Given the description of an element on the screen output the (x, y) to click on. 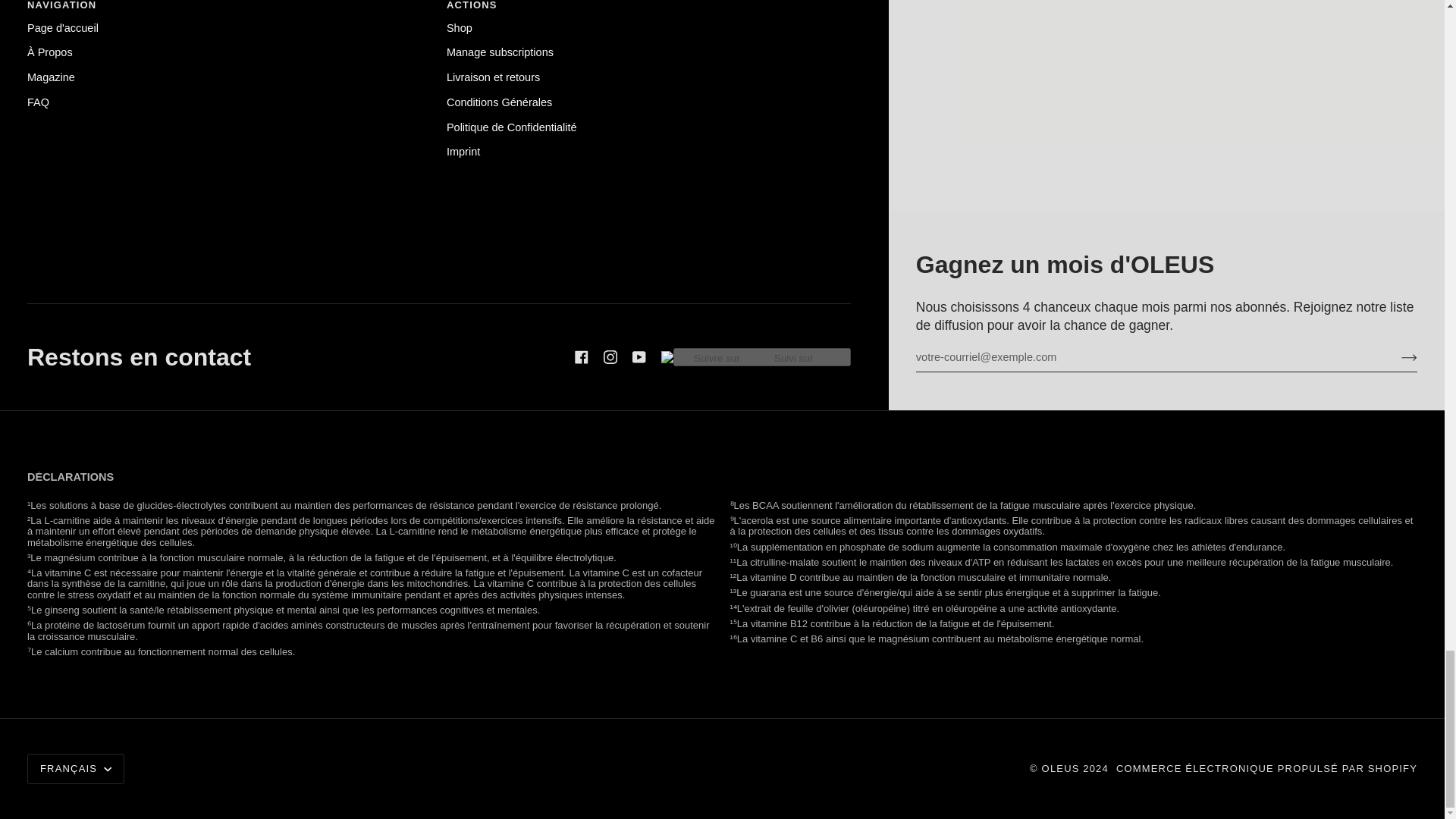
YouTube (638, 356)
Instagram (610, 356)
Facebook (581, 356)
